Given the description of an element on the screen output the (x, y) to click on. 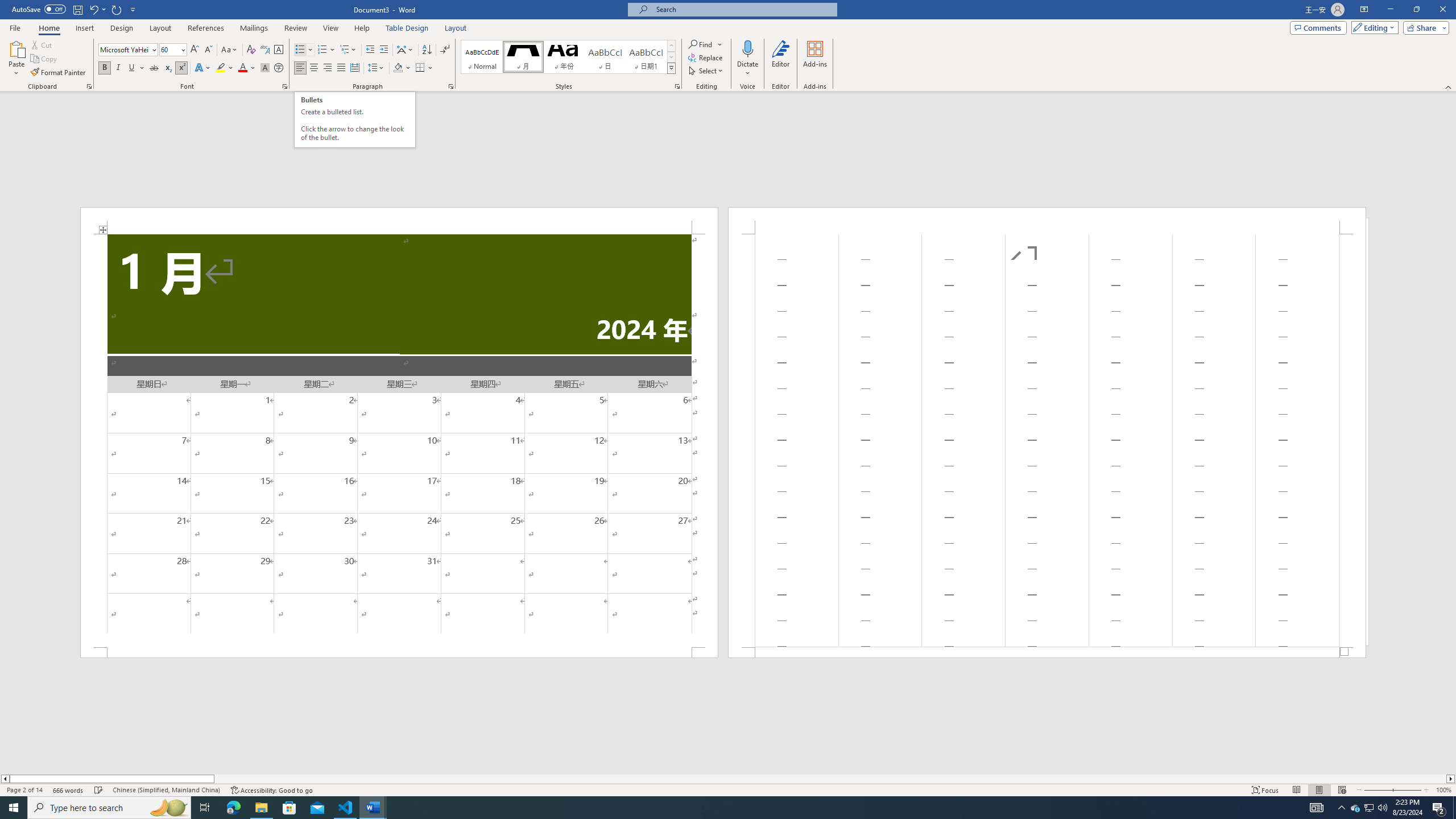
Quick Access Toolbar (74, 9)
Enclose Characters... (278, 67)
Borders (419, 67)
Font Size (172, 49)
Font... (285, 85)
Share (1423, 27)
Underline (131, 67)
Line and Paragraph Spacing (376, 67)
Font (128, 49)
Comments (1318, 27)
